Given the description of an element on the screen output the (x, y) to click on. 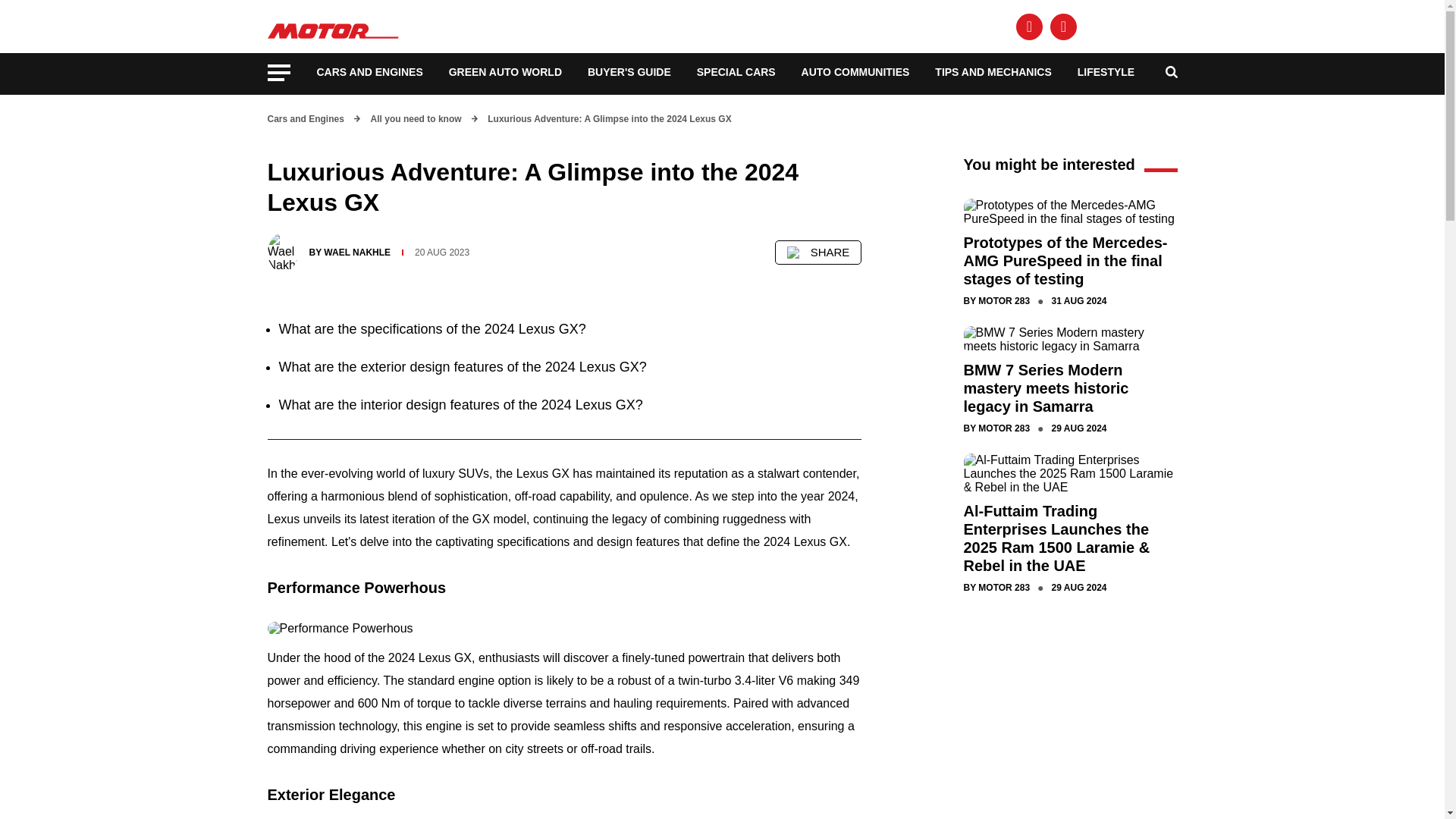
TIPS AND MECHANICS (992, 71)
BUYER'S GUIDE (629, 71)
GREEN AUTO WORLD (505, 71)
LIFESTYLE (1105, 71)
SUBSCRIBE (1141, 25)
SPECIAL CARS (736, 71)
AUTO COMMUNITIES (856, 71)
Motor 283 (335, 24)
CARS AND ENGINES (370, 71)
